Given the description of an element on the screen output the (x, y) to click on. 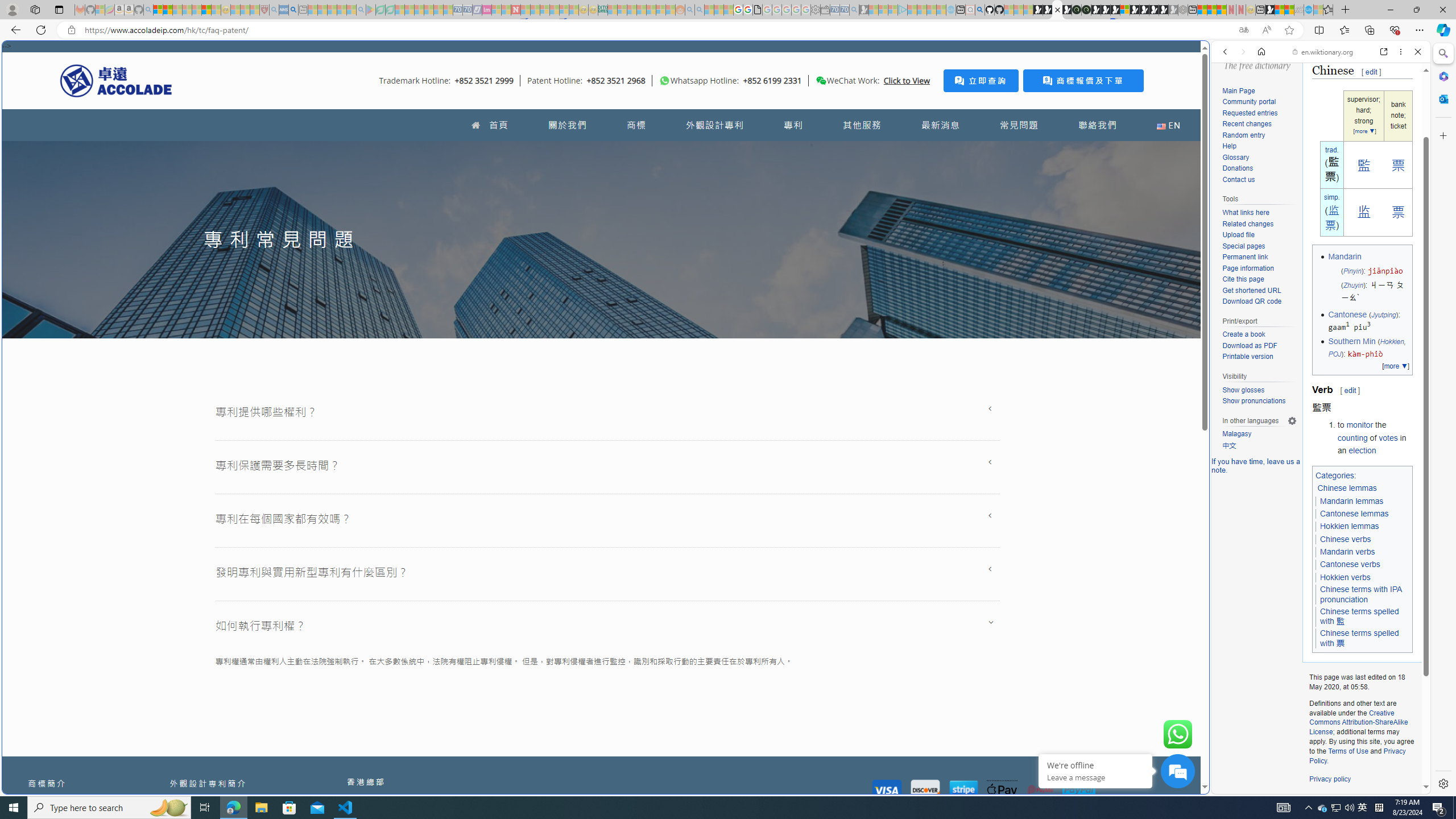
Search Filter, IMAGES (1262, 129)
MSNBC - MSN - Sleeping (611, 9)
Mandarin verbs (1347, 552)
Play Zoo Boom in your browser | Games from Microsoft Start (1047, 9)
Download as PDF (1259, 345)
Sign in to your account (1124, 9)
